Given the description of an element on the screen output the (x, y) to click on. 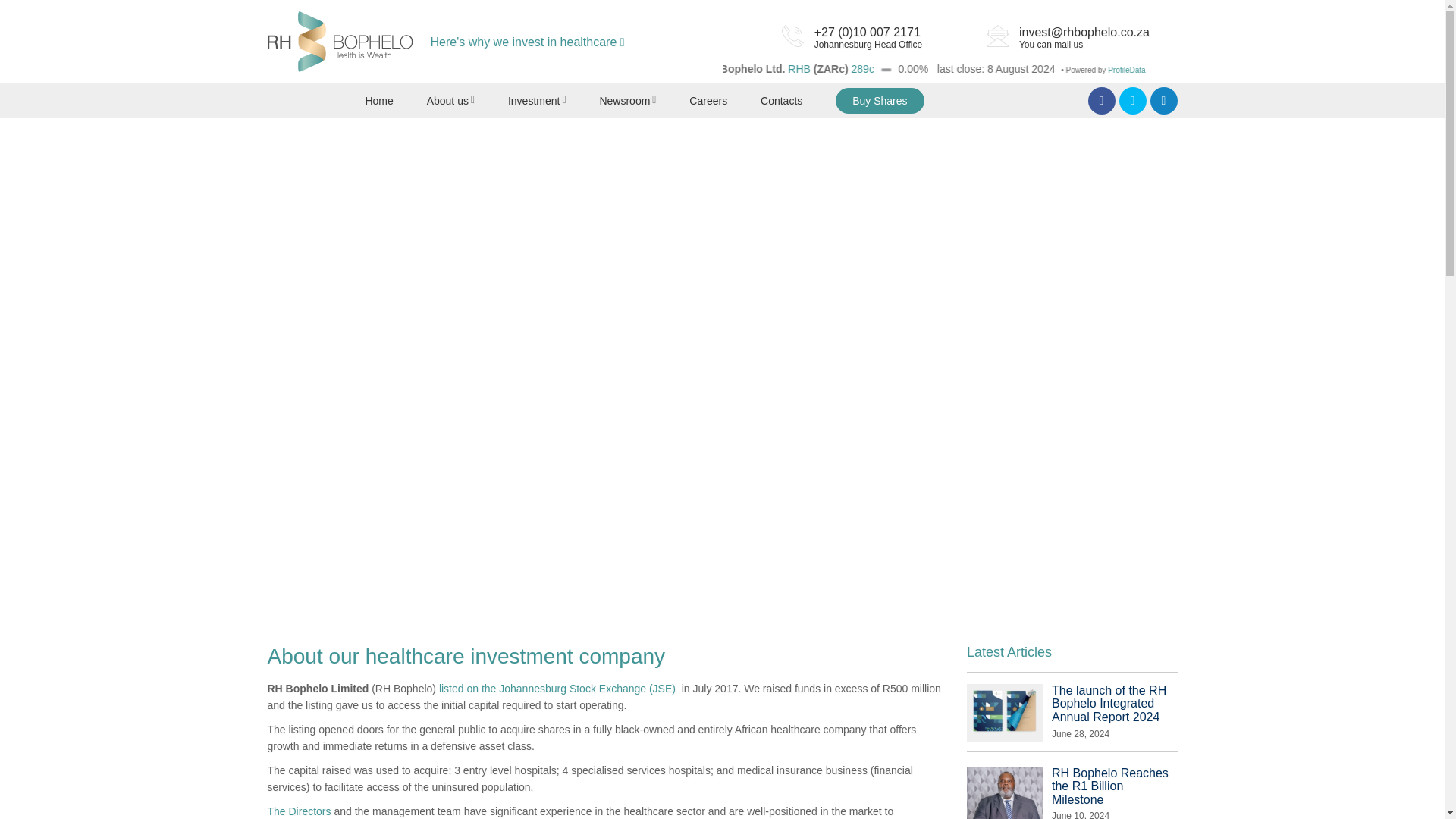
LinkedIn (1163, 100)
Newsroom (623, 99)
Facebook (1101, 100)
Investment (533, 99)
Twitter (1133, 100)
Newsroom (623, 99)
Here's why we invest in healthcare (527, 42)
Buy Shares (879, 100)
